Given the description of an element on the screen output the (x, y) to click on. 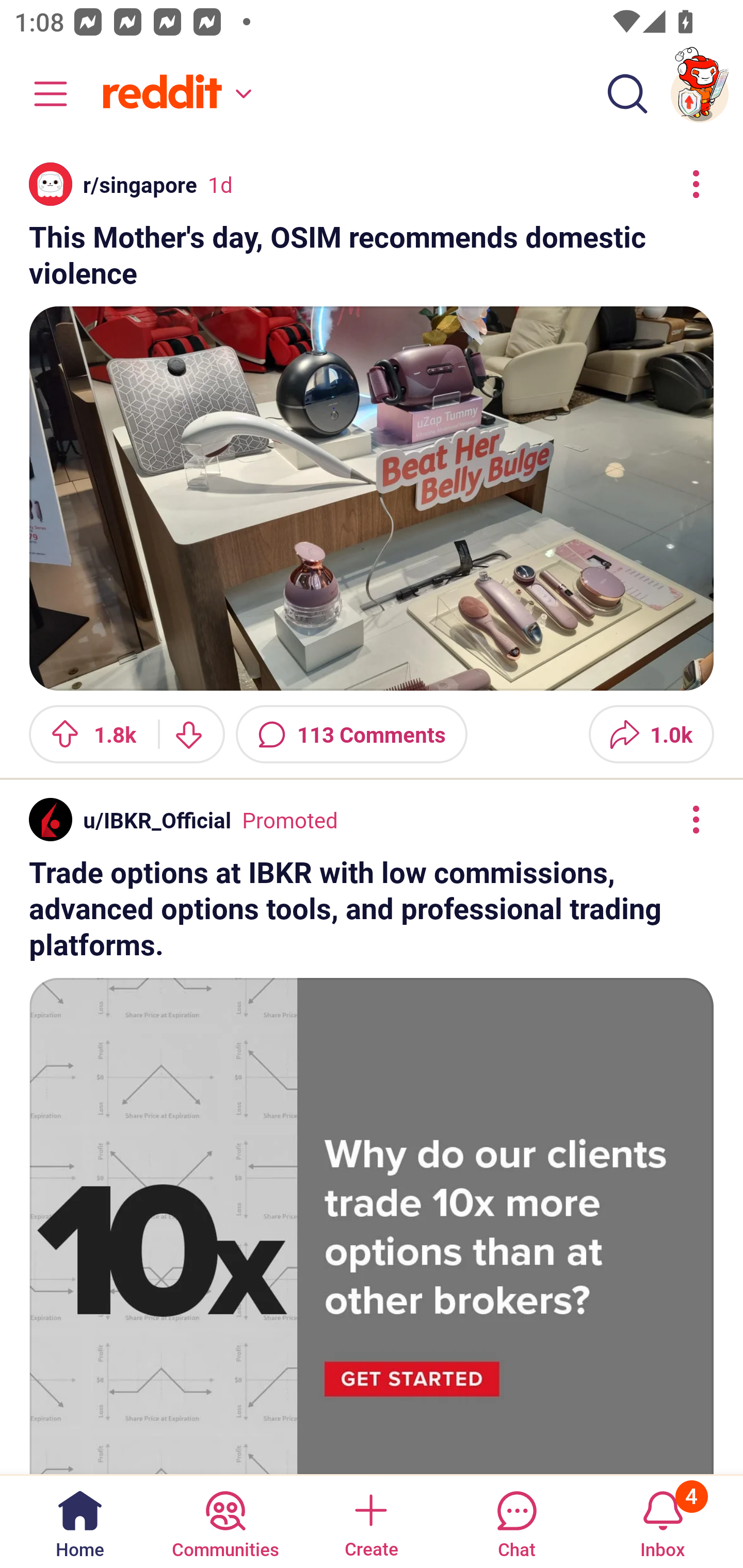
Search (626, 93)
TestAppium002 account (699, 93)
Community menu (41, 94)
Home feed (173, 94)
Home (80, 1520)
Communities (225, 1520)
Create a post Create (370, 1520)
Chat (516, 1520)
Inbox, has 4 notifications 4 Inbox (662, 1520)
